Given the description of an element on the screen output the (x, y) to click on. 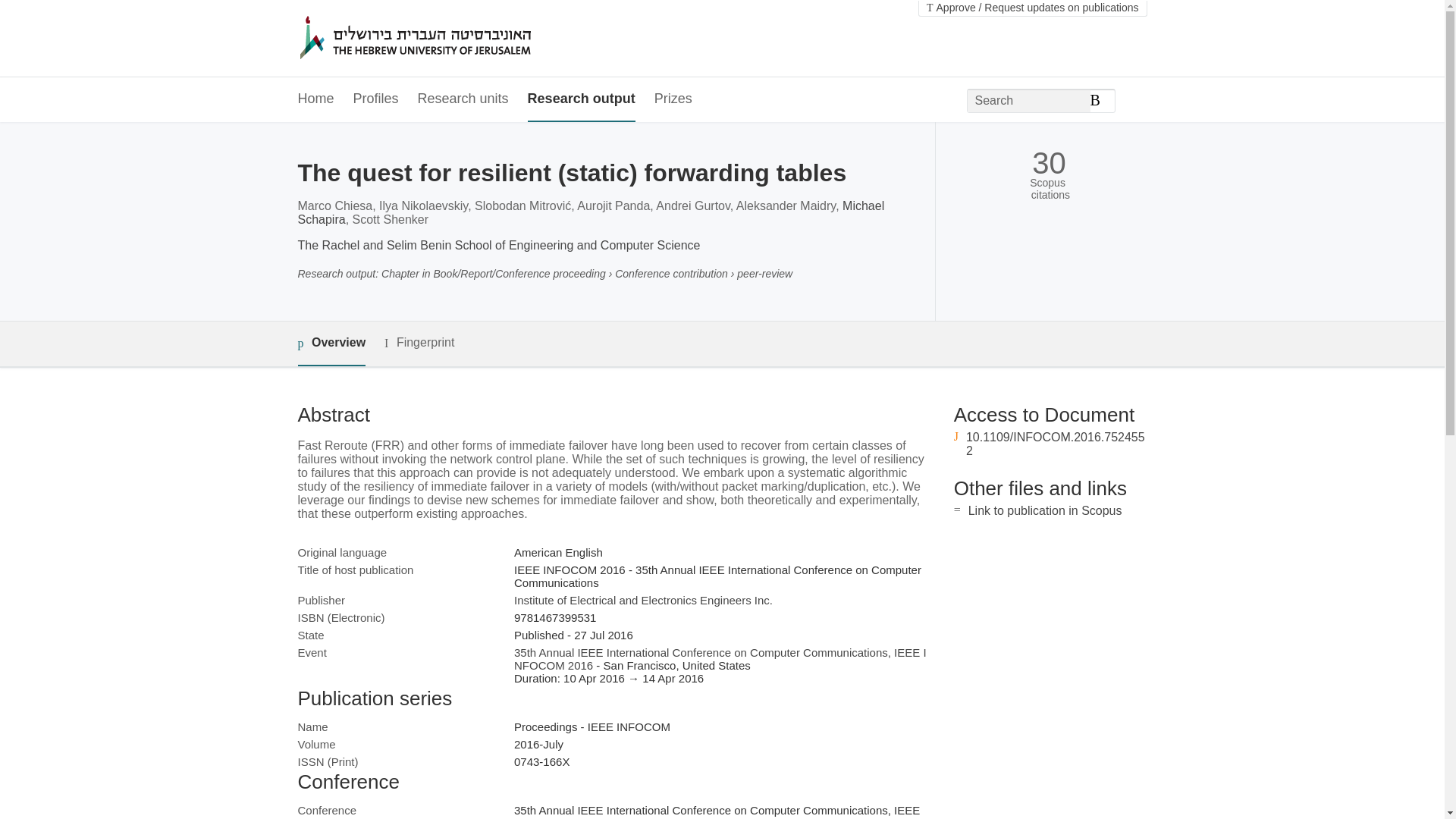
The Hebrew University of Jerusalem Home (447, 38)
Research units (462, 99)
Overview (331, 343)
Institute of Electrical and Electronics Engineers Inc. (643, 599)
Michael Schapira (590, 212)
Fingerprint (419, 342)
Link to publication in Scopus (1045, 510)
Research output (580, 99)
Profiles (375, 99)
